Given the description of an element on the screen output the (x, y) to click on. 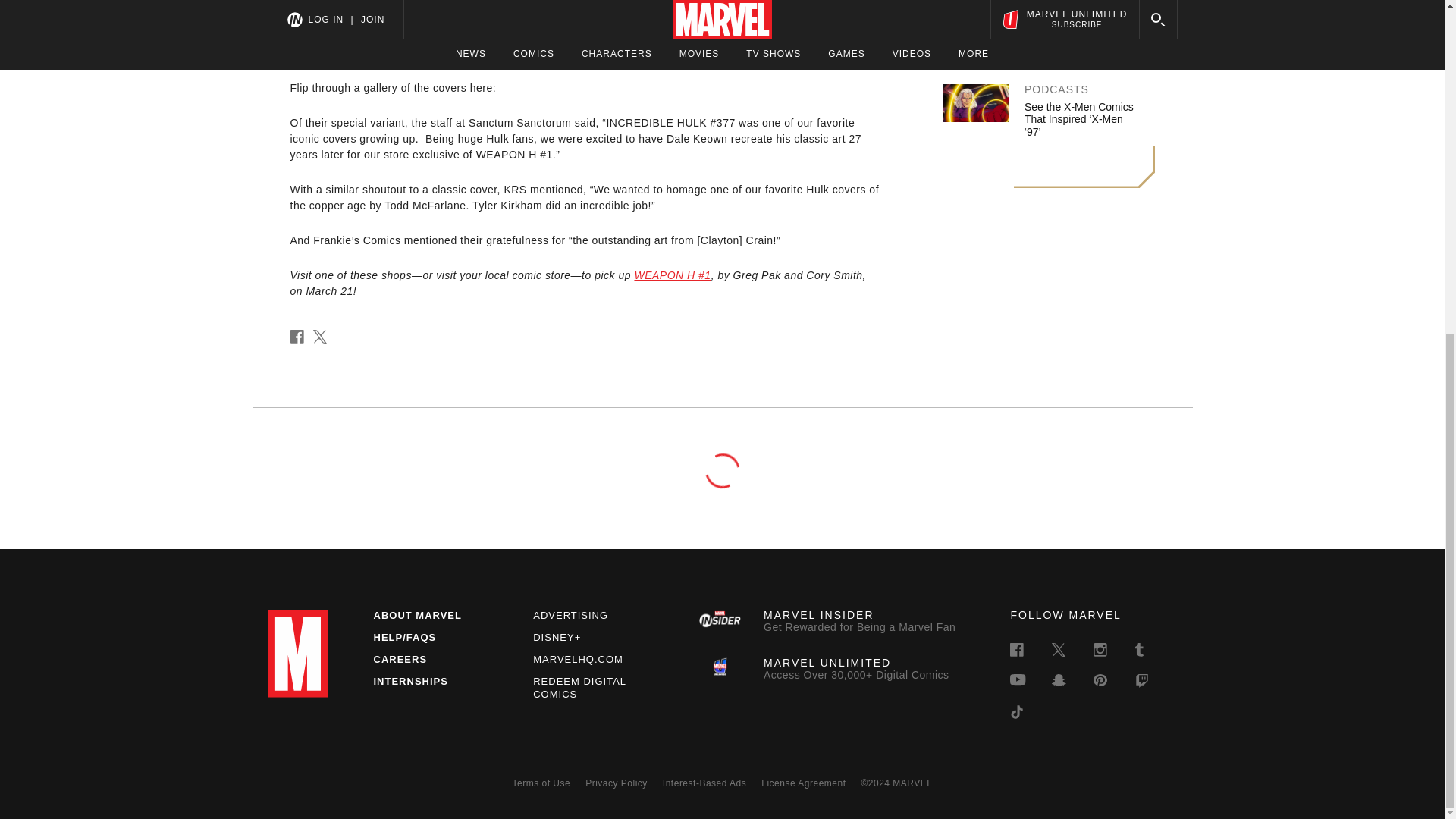
WEAPON H (319, 4)
Cory Smith (548, 37)
Unknown Comics (741, 52)
July 31's New Marvel Comics: The Full List (1074, 25)
KRS Comics (845, 52)
Greg Pak (442, 37)
